Given the description of an element on the screen output the (x, y) to click on. 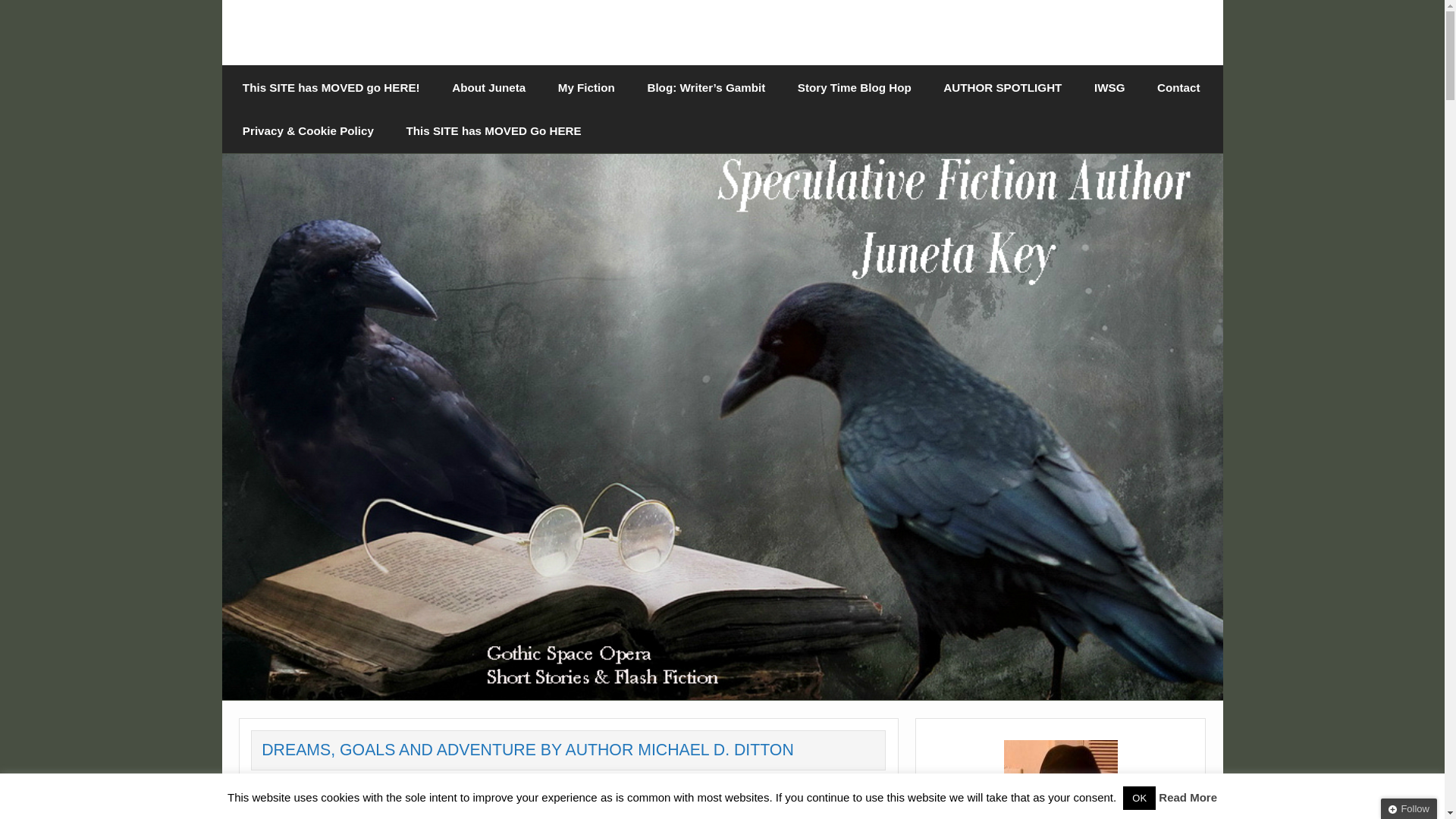
About Juneta (488, 86)
View all posts by admin (370, 786)
DREAMS, GOALS AND ADVENTURE (568, 816)
My Fiction (585, 86)
12:01 am (299, 786)
This SITE has MOVED go HERE! (331, 86)
